Given the description of an element on the screen output the (x, y) to click on. 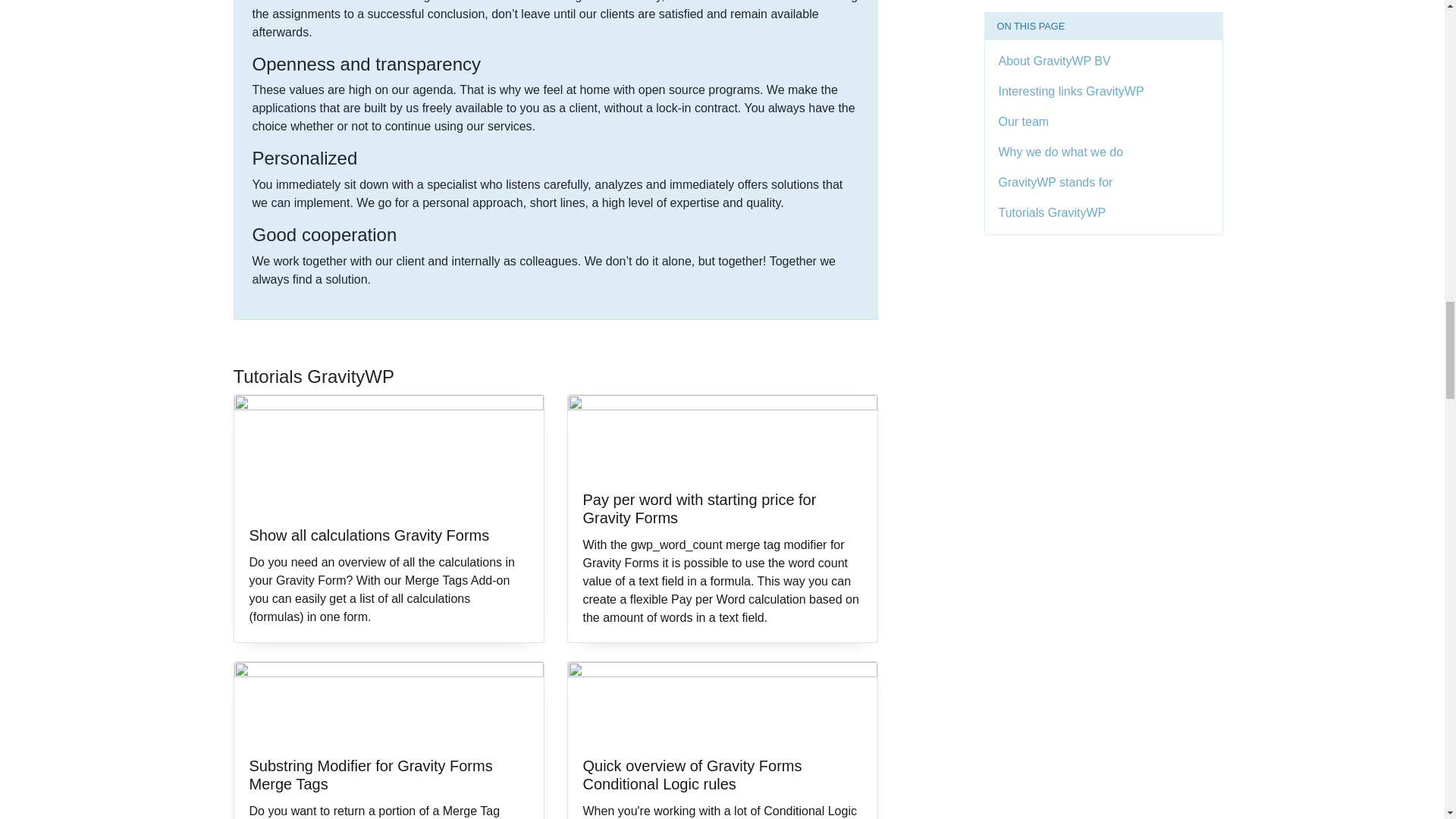
Feature image Tutorial Show all calculations Gravity Forms (387, 452)
